Given the description of an element on the screen output the (x, y) to click on. 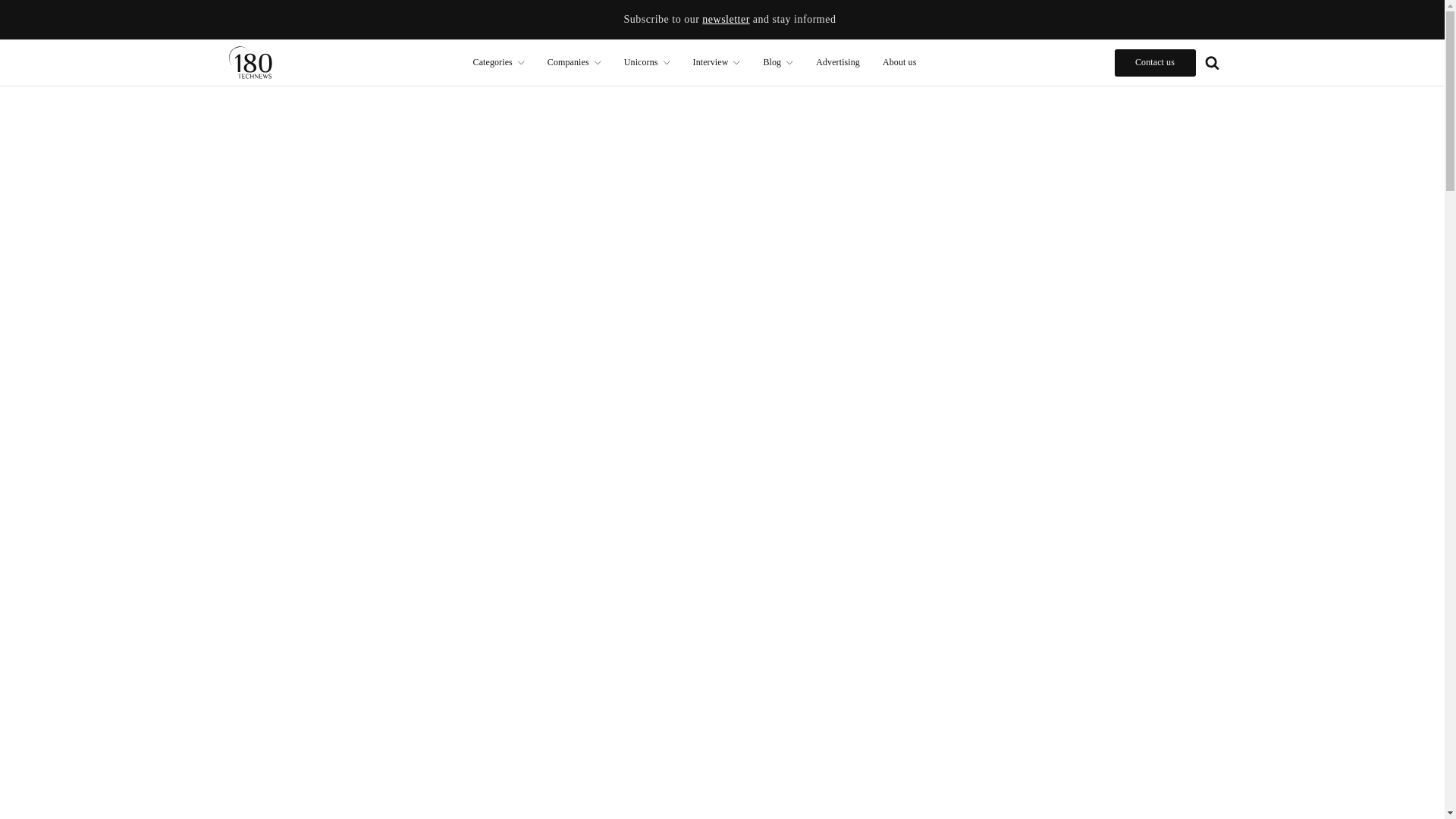
Interview (716, 62)
Categories (498, 62)
About us (898, 62)
newsletter (725, 19)
Contact us (1155, 62)
Blog (778, 62)
Companies (573, 62)
Advertising (837, 62)
Unicorns (646, 62)
